Given the description of an element on the screen output the (x, y) to click on. 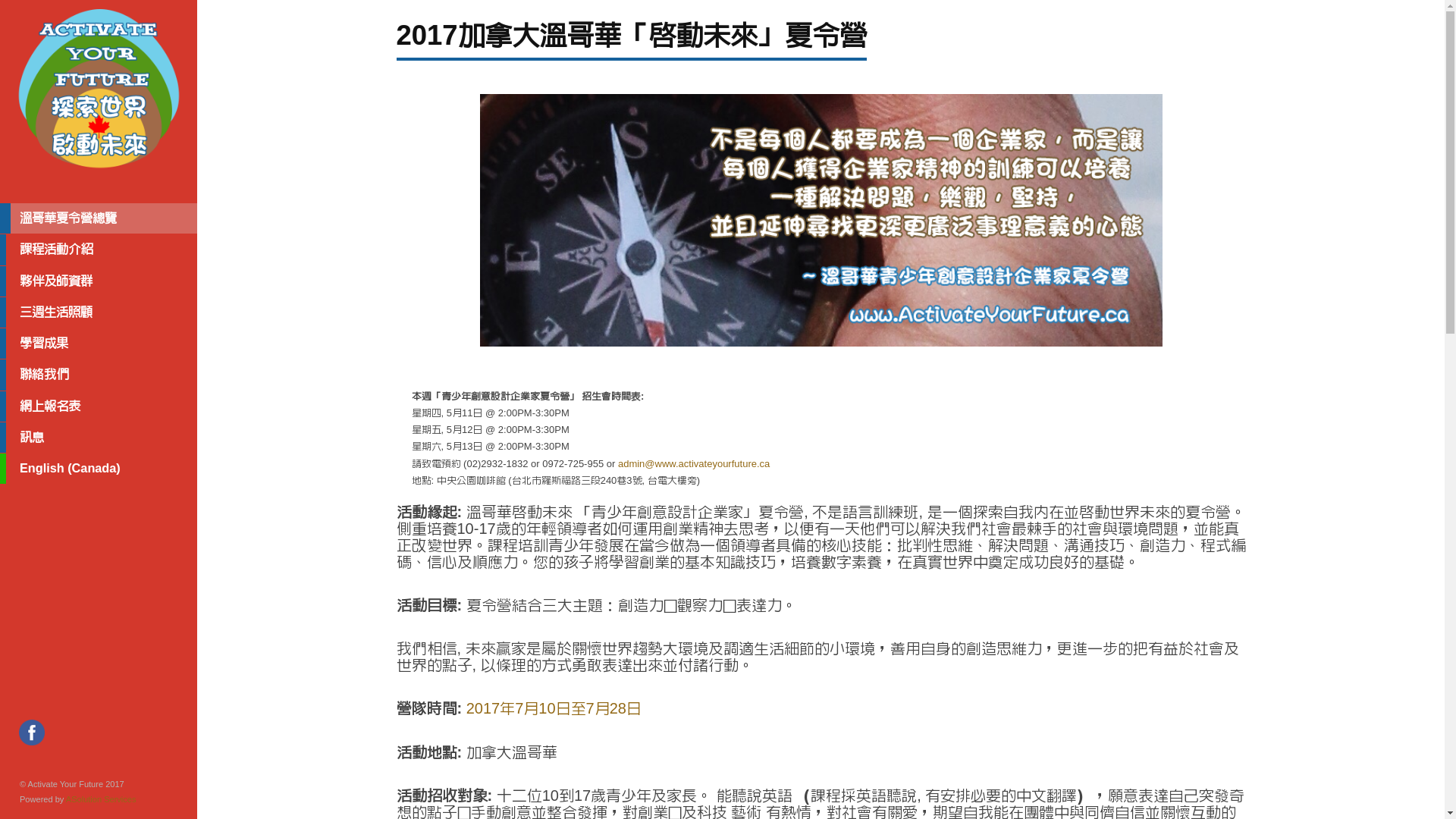
ASolution Services Element type: text (100, 798)
English (Canada) Element type: text (98, 468)
admin@www.activateyourfuture.ca Element type: text (693, 463)
Facebook Element type: hover (31, 734)
